Given the description of an element on the screen output the (x, y) to click on. 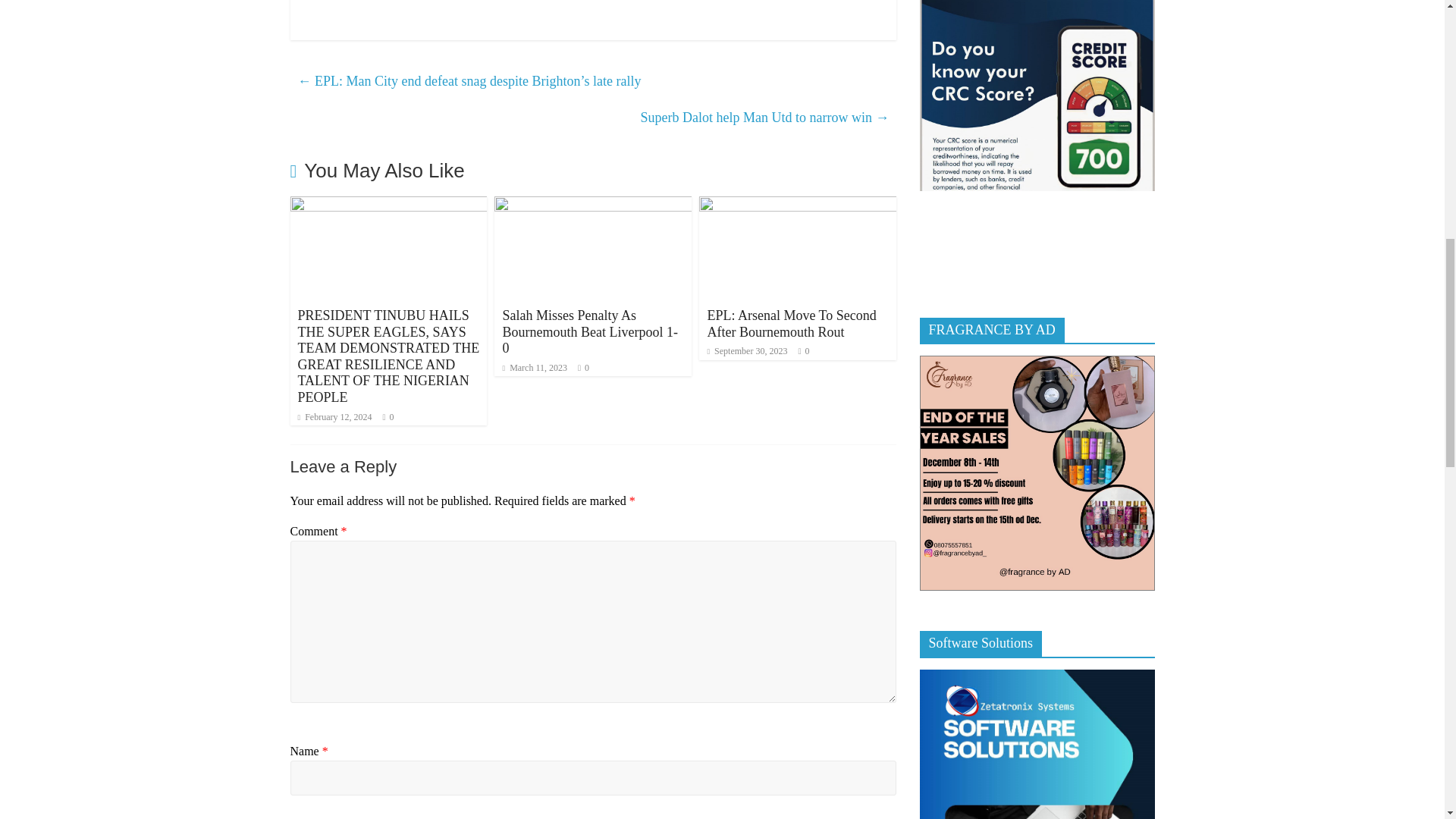
EPL: Arsenal Move To Second After Bournemouth Rout (791, 323)
February 12, 2024 (334, 416)
7:08 am (334, 416)
March 11, 2023 (534, 367)
Salah Misses Penalty As Bournemouth Beat Liverpool 1-0 (589, 331)
